Given the description of an element on the screen output the (x, y) to click on. 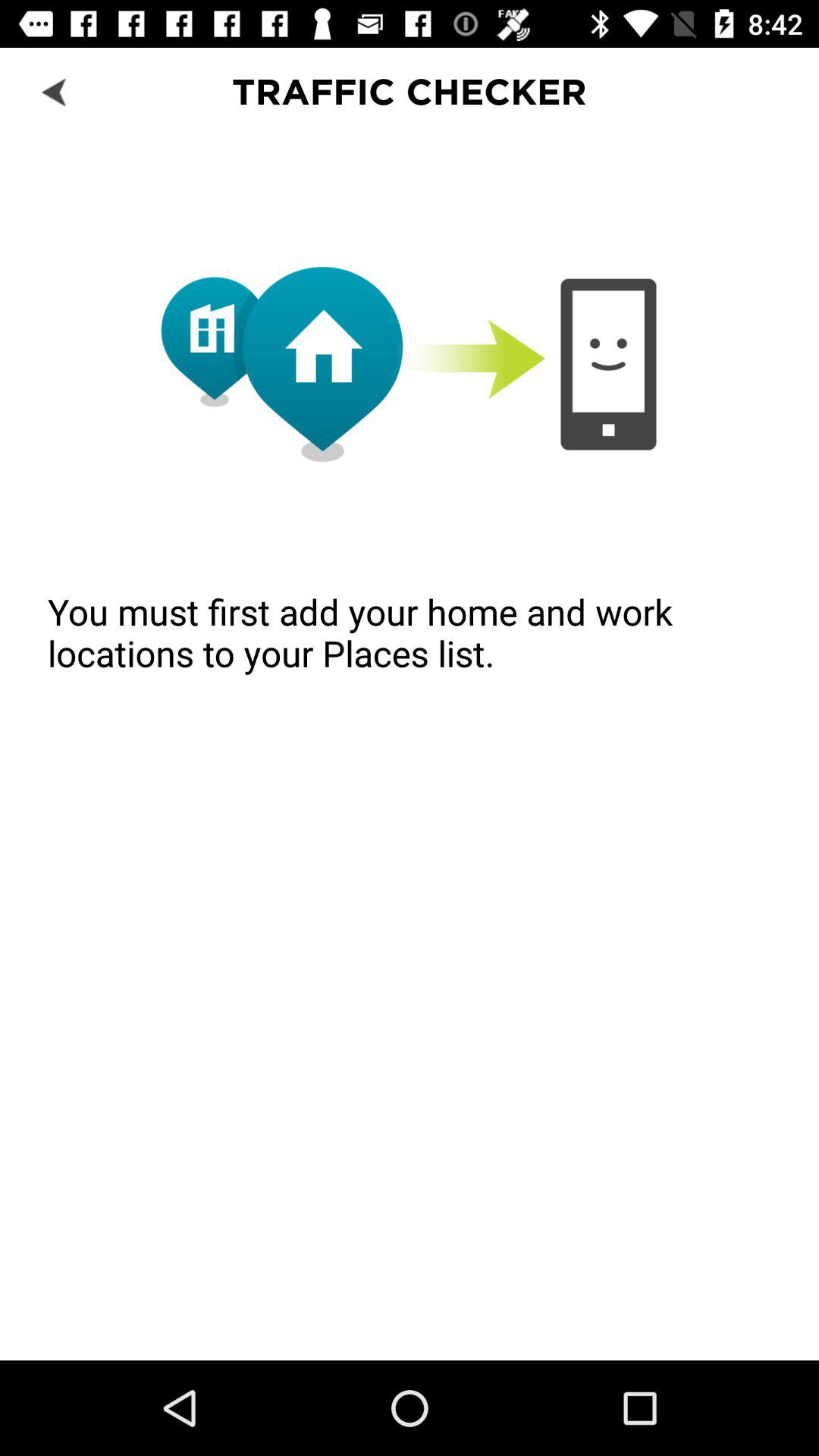
return to the previous screen (55, 91)
